Given the description of an element on the screen output the (x, y) to click on. 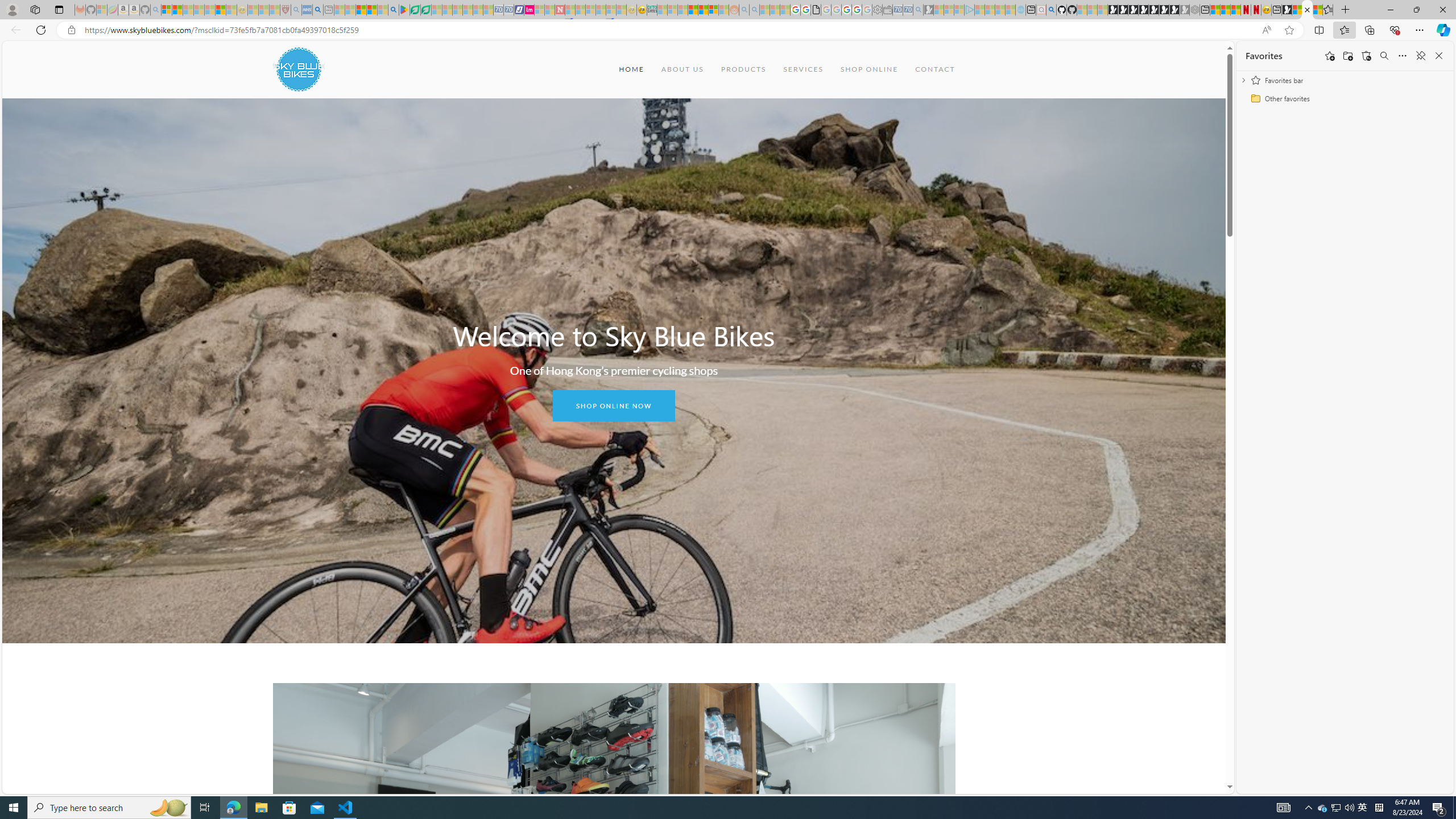
Add this page to favorites (1330, 55)
Kinda Frugal - MSN (703, 9)
SERVICES (802, 68)
Jobs - lastminute.com Investor Portal (528, 9)
SHOP ONLINE (869, 68)
DITOGAMES AG Imprint (652, 9)
